Given the description of an element on the screen output the (x, y) to click on. 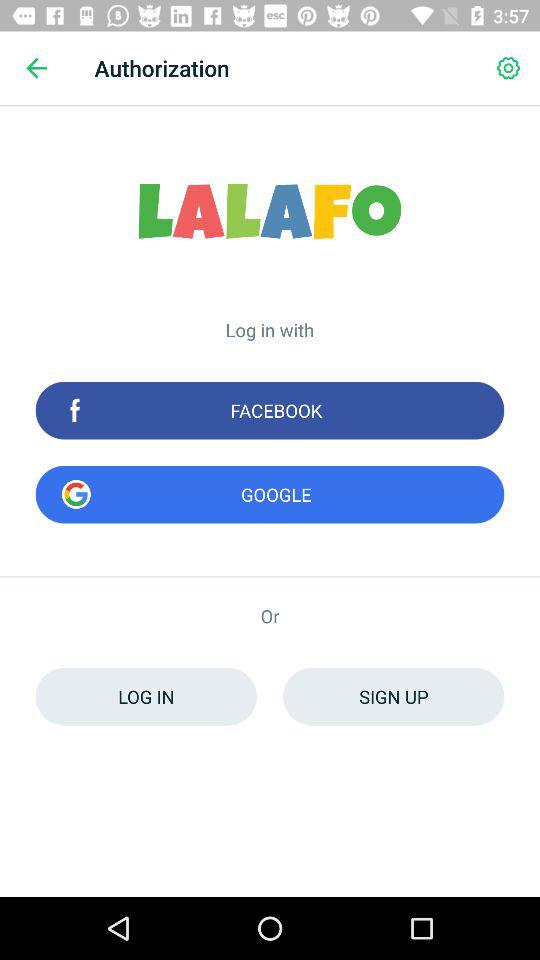
select item below the or icon (393, 696)
